Given the description of an element on the screen output the (x, y) to click on. 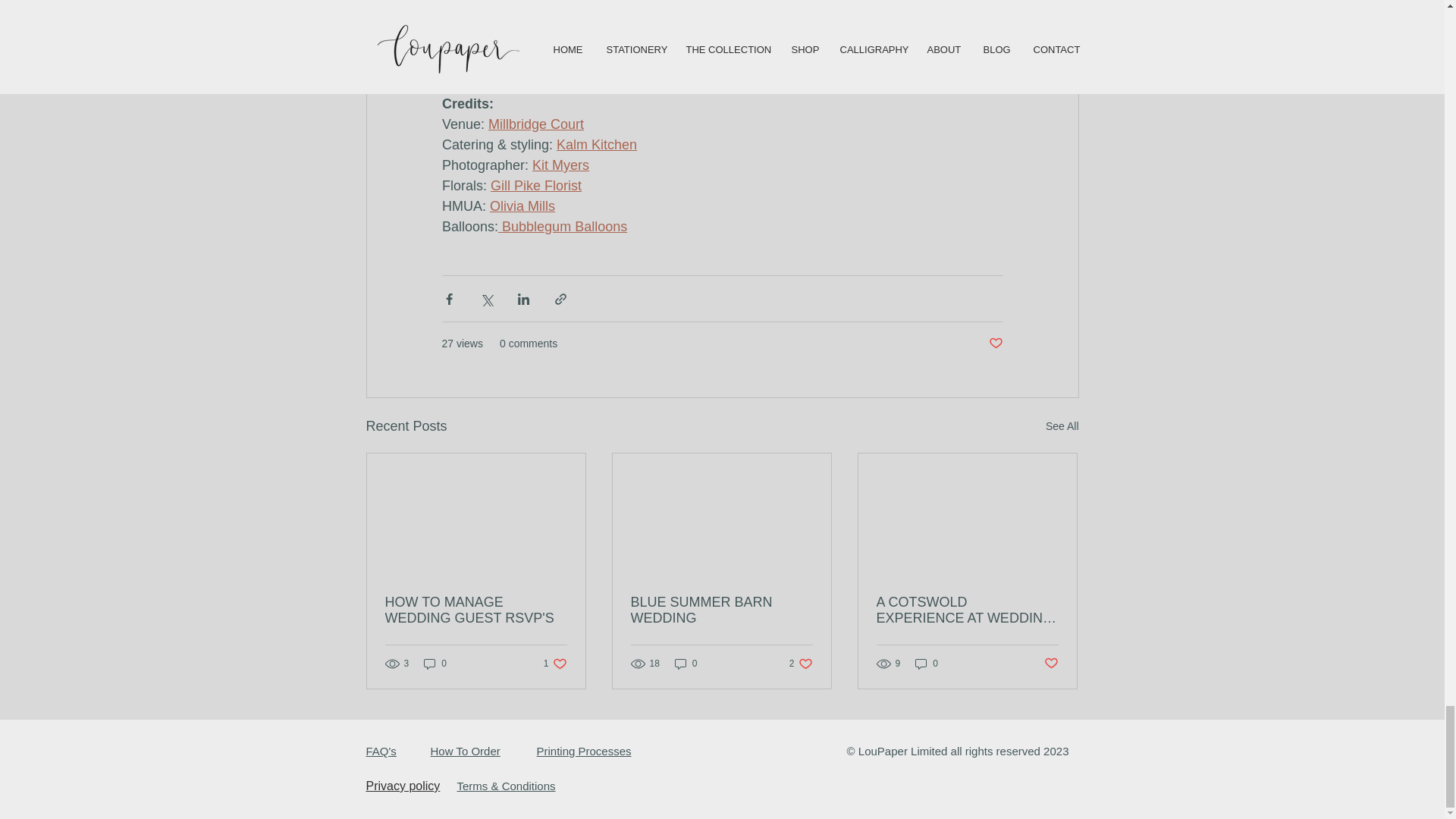
curated collection of stationery designs (612, 42)
Post not marked as liked (995, 343)
Gill Pike Florist (535, 185)
Millbridge Court (535, 124)
 Bubblegum Balloons (562, 226)
here (816, 4)
Olivia Mills (521, 206)
Kit Myers (560, 165)
Kalm Kitchen (596, 144)
See All (1061, 426)
